Given the description of an element on the screen output the (x, y) to click on. 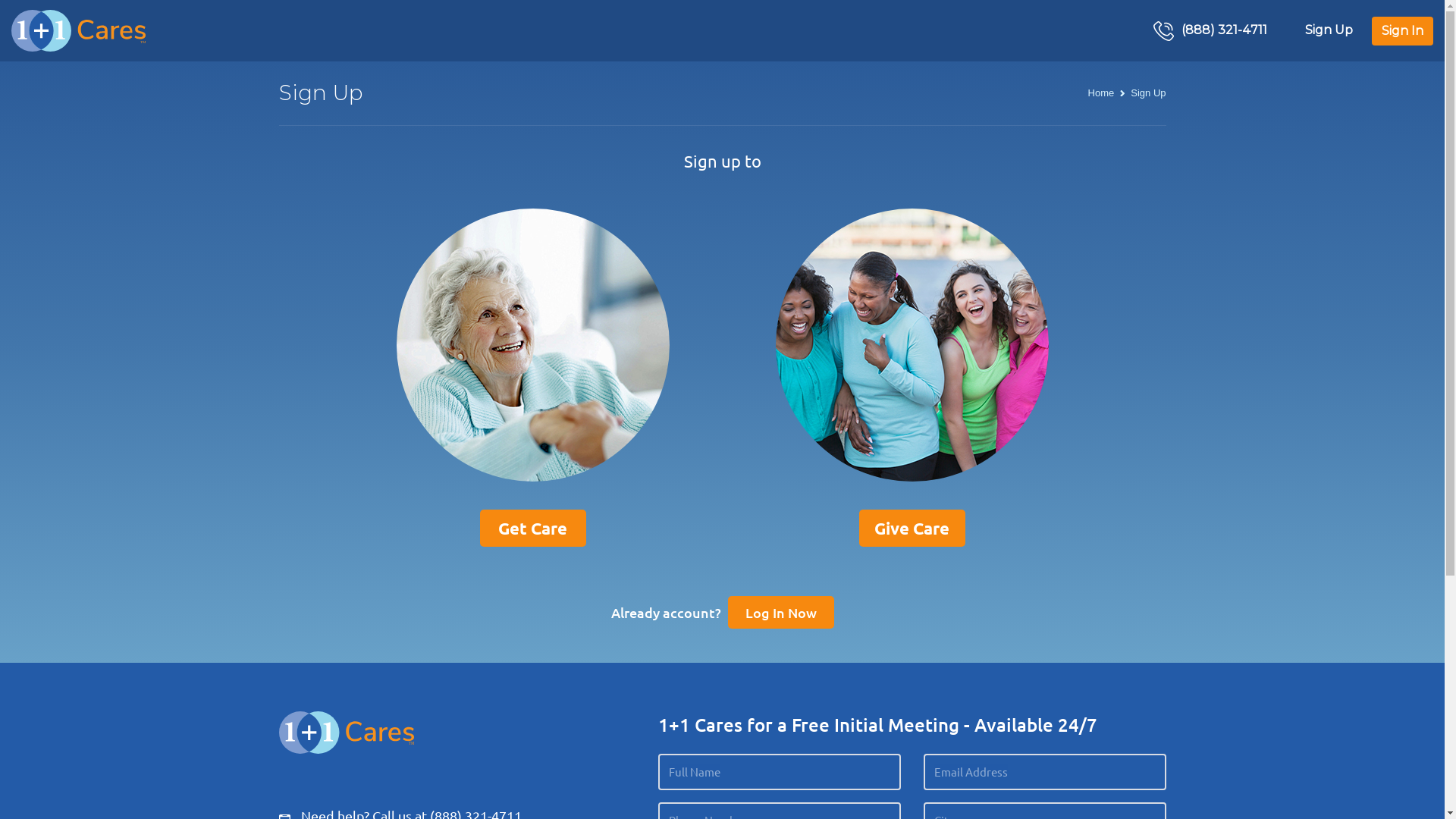
Give Care Element type: text (911, 527)
Sign In Element type: text (1402, 30)
Sign Up Element type: text (1328, 30)
Get Care Element type: text (532, 527)
Log In Now Element type: text (781, 612)
Home Element type: text (1101, 92)
(888) 321-4711 Element type: text (1210, 30)
